Given the description of an element on the screen output the (x, y) to click on. 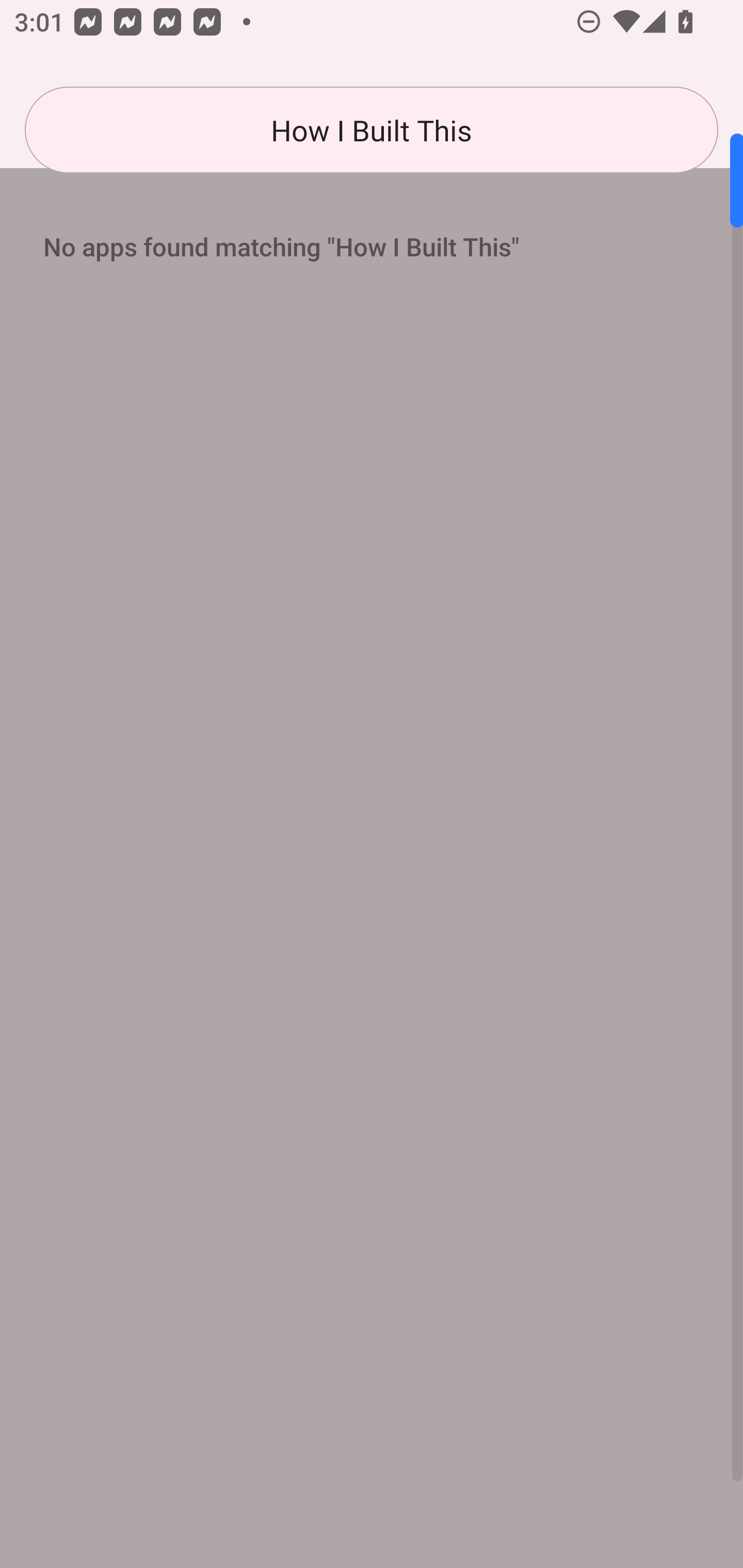
How I Built This (371, 130)
